Given the description of an element on the screen output the (x, y) to click on. 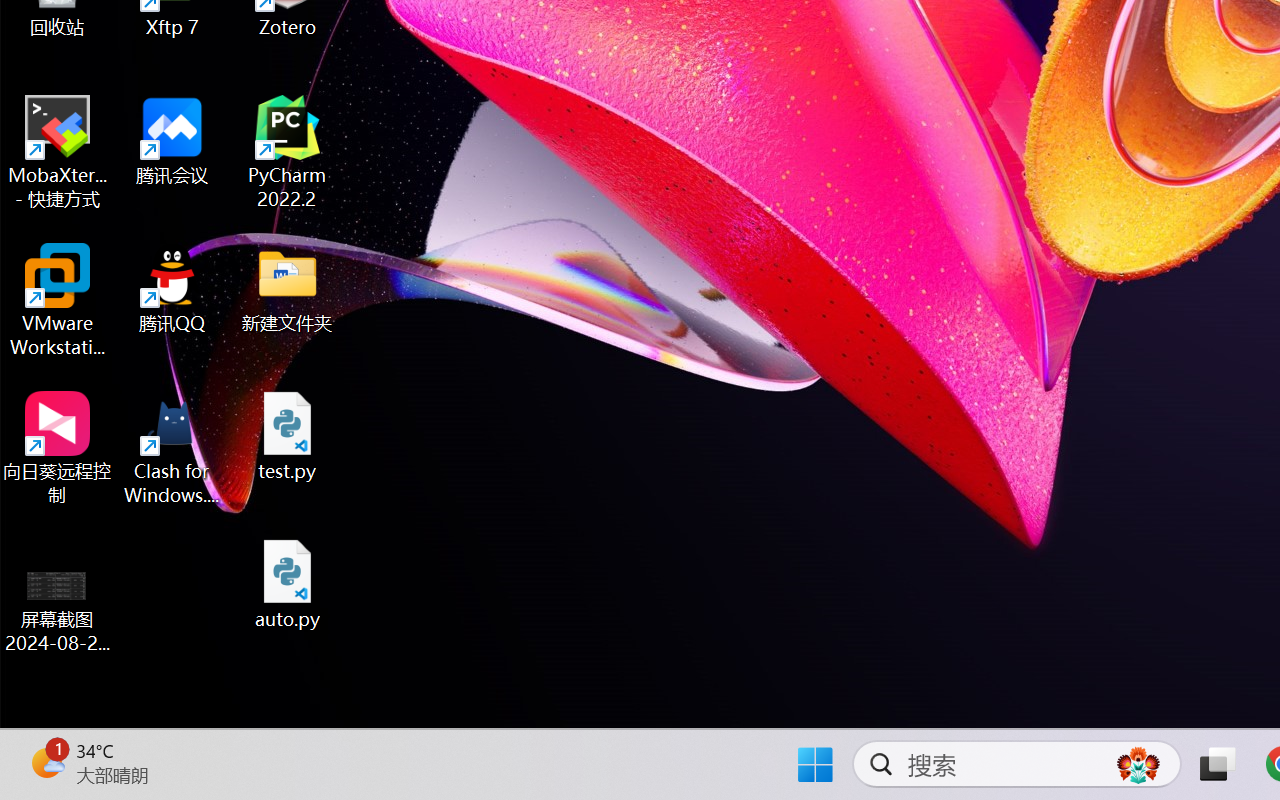
PyCharm 2022.2 (287, 152)
VMware Workstation Pro (57, 300)
auto.py (287, 584)
test.py (287, 436)
